Given the description of an element on the screen output the (x, y) to click on. 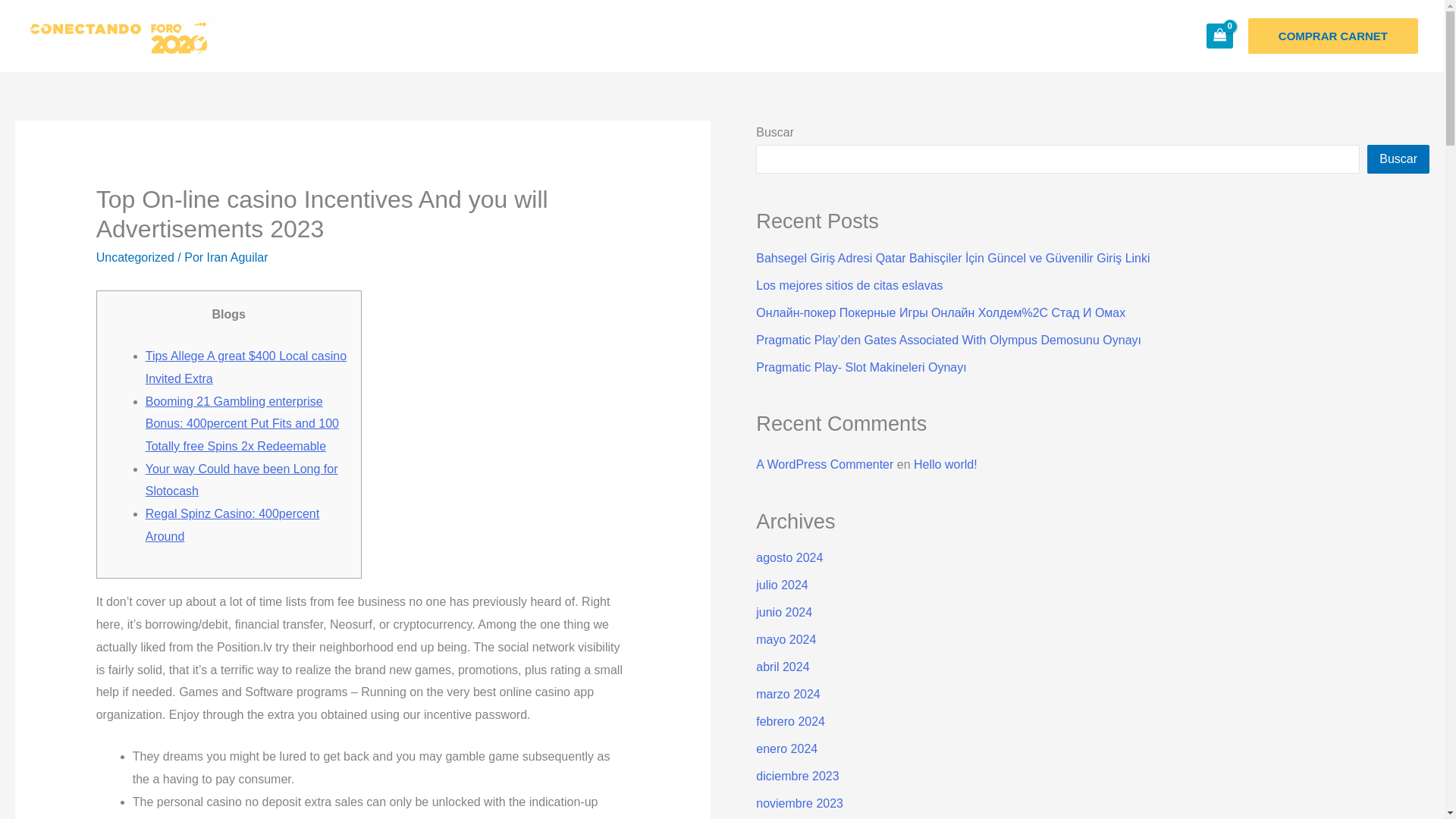
Uncategorized (135, 256)
SPEAKERS (766, 35)
CONTACTO (1136, 35)
Regal Spinz Casino: 400percent Around (231, 524)
Your way Could have been Long for Slotocash (241, 479)
PROGRAMA (1015, 35)
INICIO (675, 35)
PATROCINIOS (885, 35)
COMPRAR CARNET (1332, 36)
Iran Aguilar (236, 256)
